Given the description of an element on the screen output the (x, y) to click on. 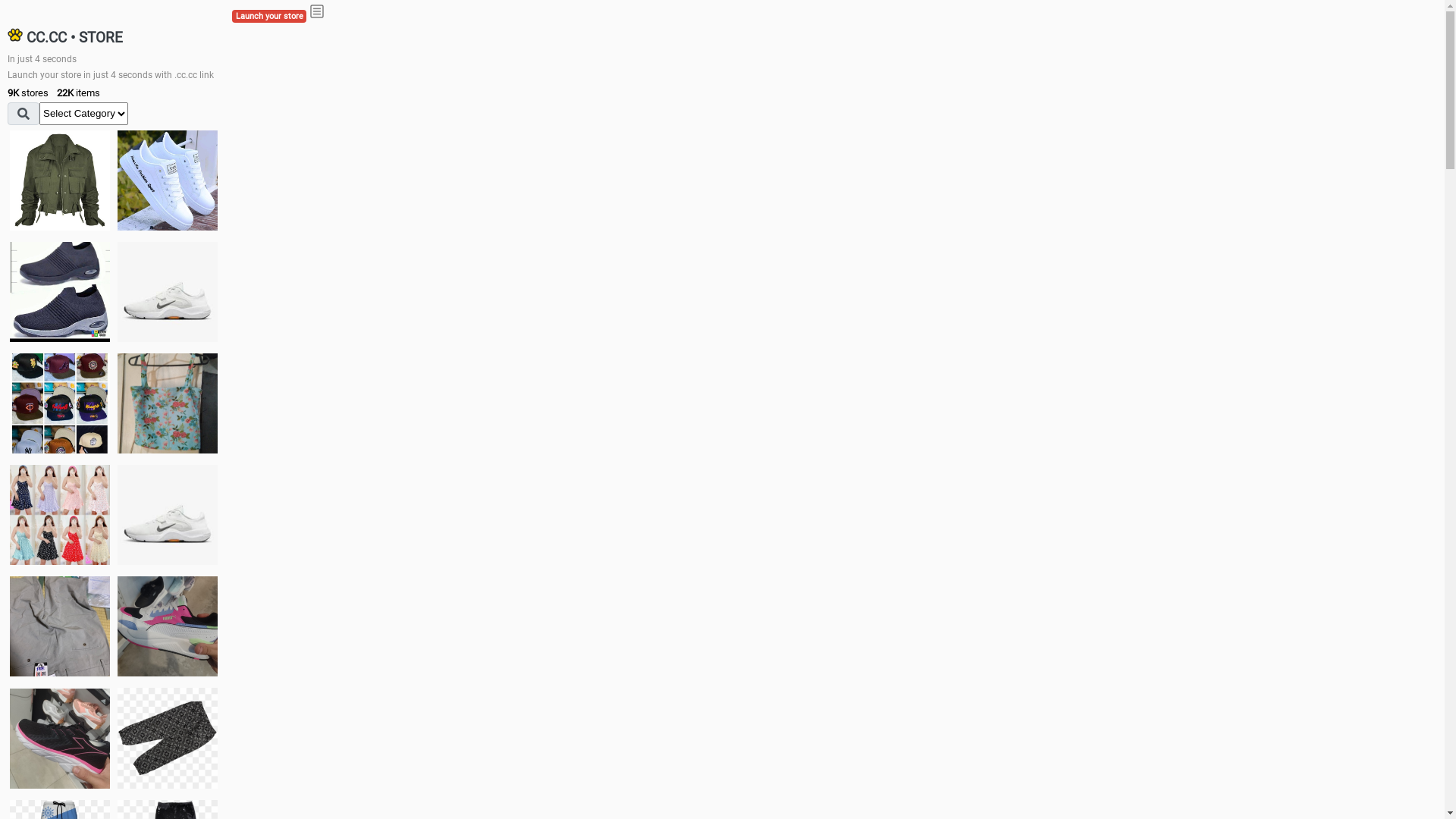
Launch your store Element type: text (269, 15)
Shoes for boys Element type: hover (167, 291)
Ukay cloth Element type: hover (167, 403)
Zapatillas Element type: hover (59, 738)
Short pant Element type: hover (167, 737)
white shoes Element type: hover (167, 180)
Things we need Element type: hover (59, 403)
jacket Element type: hover (59, 180)
Shoes Element type: hover (167, 514)
Dress/square nect top Element type: hover (59, 514)
Zapatillas pumas Element type: hover (167, 626)
shoes for boys Element type: hover (59, 291)
